Given the description of an element on the screen output the (x, y) to click on. 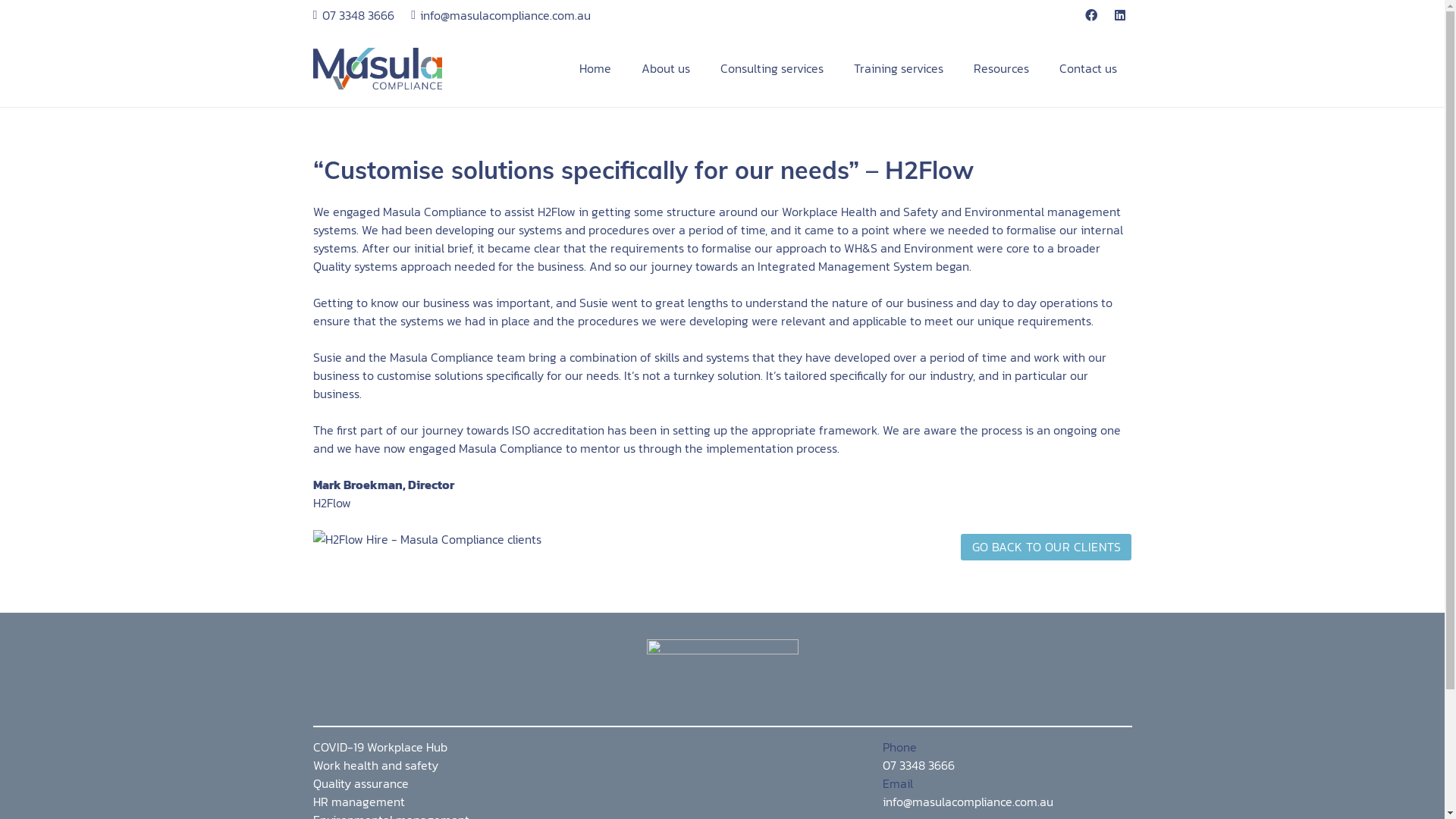
Quality assurance Element type: text (359, 783)
Resources Element type: text (1001, 68)
07 3348 3666 Element type: text (918, 765)
COVID-19 Workplace Hub Element type: text (379, 746)
Training services Element type: text (898, 68)
info@masulacompliance.com.au Element type: text (967, 801)
HR management Element type: text (358, 801)
info@masulacompliance.com.au Element type: text (500, 15)
Consulting services Element type: text (771, 68)
LinkedIn Element type: hover (1119, 15)
About us Element type: text (665, 68)
Work health and safety Element type: text (374, 765)
07 3348 3666 Element type: text (352, 15)
Home Element type: text (595, 68)
Facebook Element type: hover (1091, 15)
GO BACK TO OUR CLIENTS Element type: text (1045, 546)
Contact us Element type: text (1087, 68)
